Given the description of an element on the screen output the (x, y) to click on. 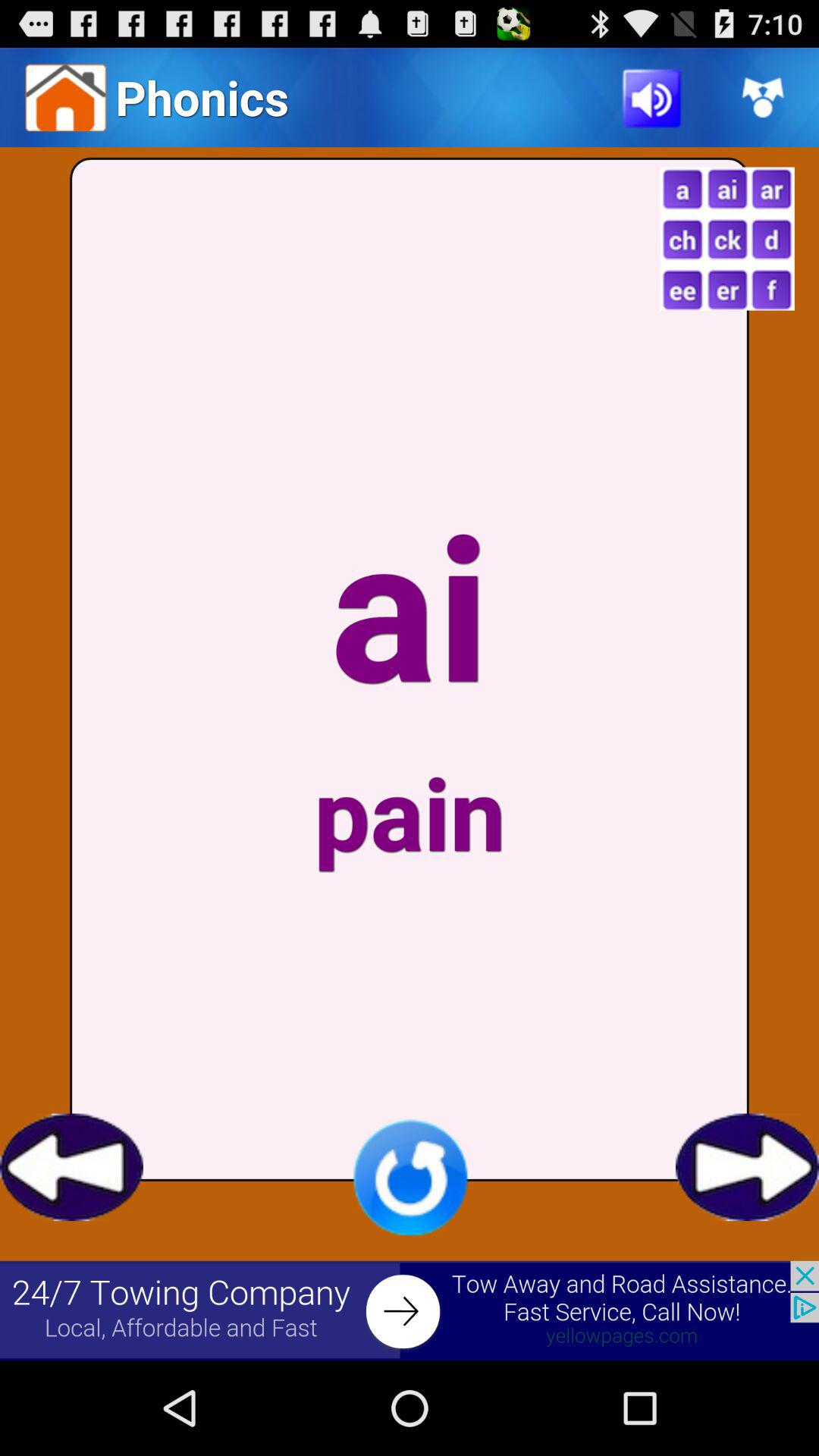
redo (409, 1177)
